Given the description of an element on the screen output the (x, y) to click on. 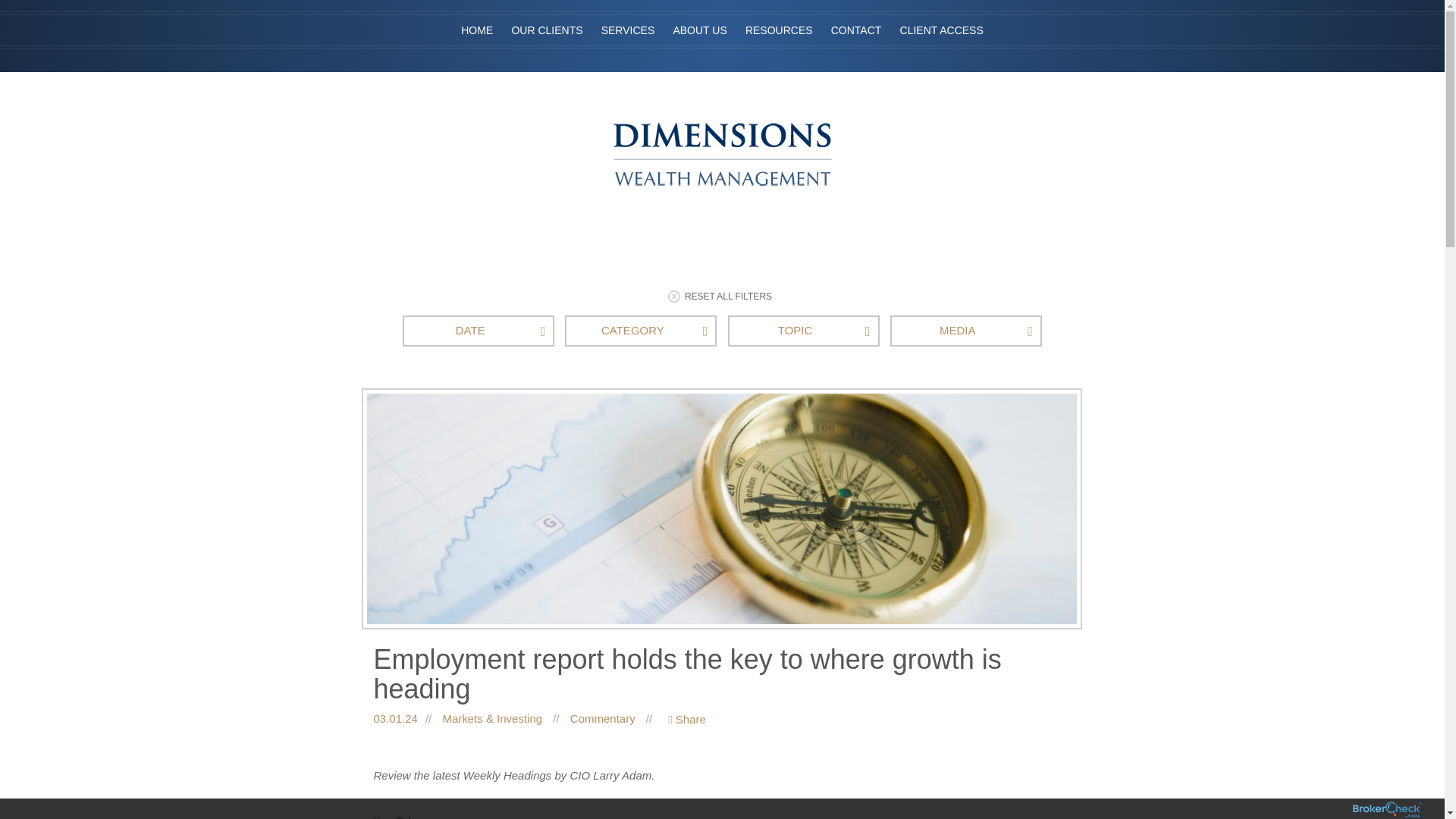
CLIENT ACCESS (941, 30)
ABOUT US (699, 27)
OUR CLIENTS (546, 14)
CONTACT (856, 30)
SERVICES (628, 19)
HOME (476, 14)
RESOURCES (779, 29)
LOGIN (893, 82)
